Given the description of an element on the screen output the (x, y) to click on. 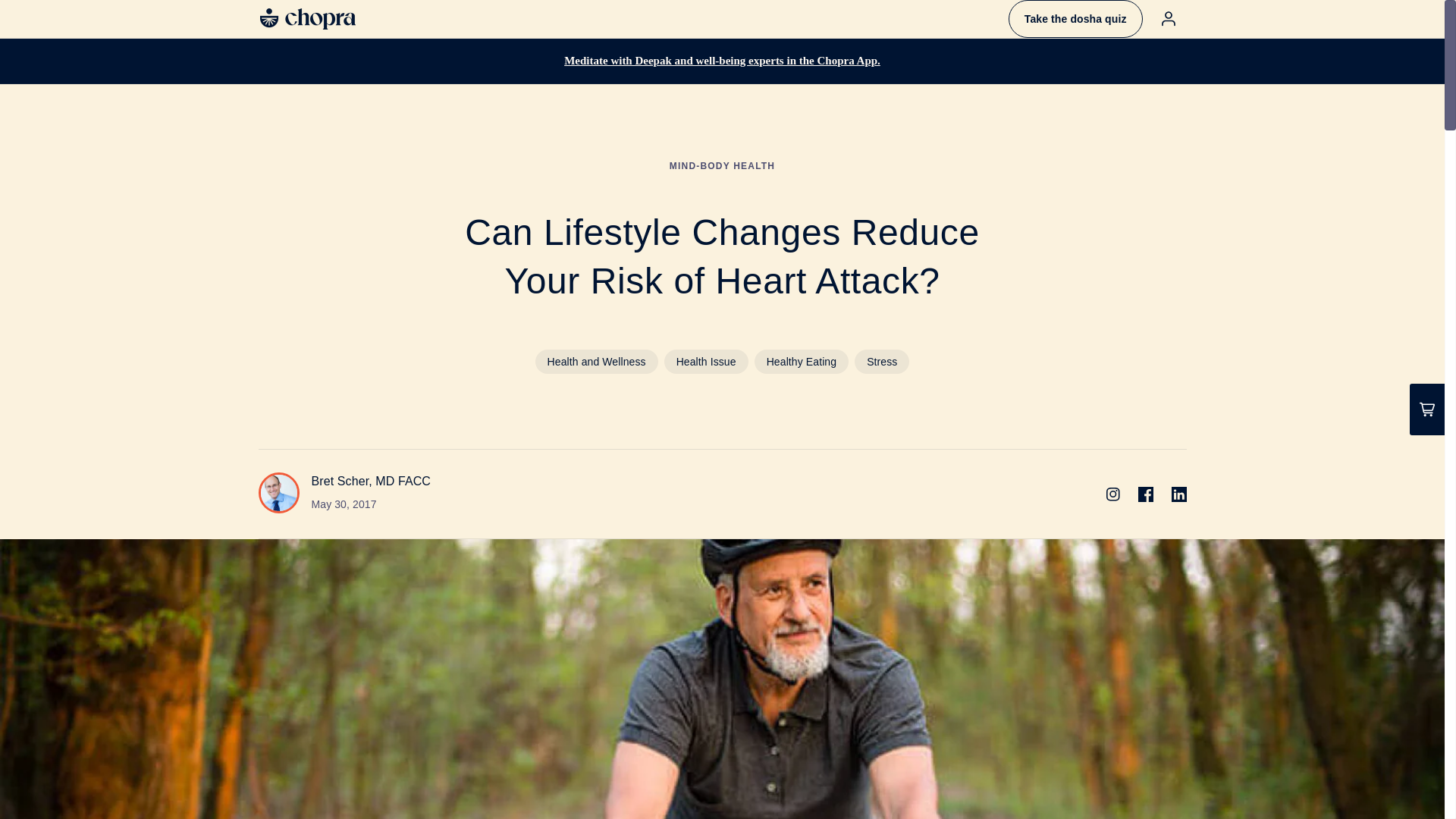
Skip to content (45, 17)
Take the dosha quiz (1075, 18)
LinkedIn (1178, 494)
Bret Scher, MD FACC (370, 481)
Stress (881, 361)
Facebook (1145, 494)
Health Issue (705, 361)
MIND-BODY HEALTH (721, 165)
Health and Wellness (596, 361)
Healthy Eating (801, 361)
